Given the description of an element on the screen output the (x, y) to click on. 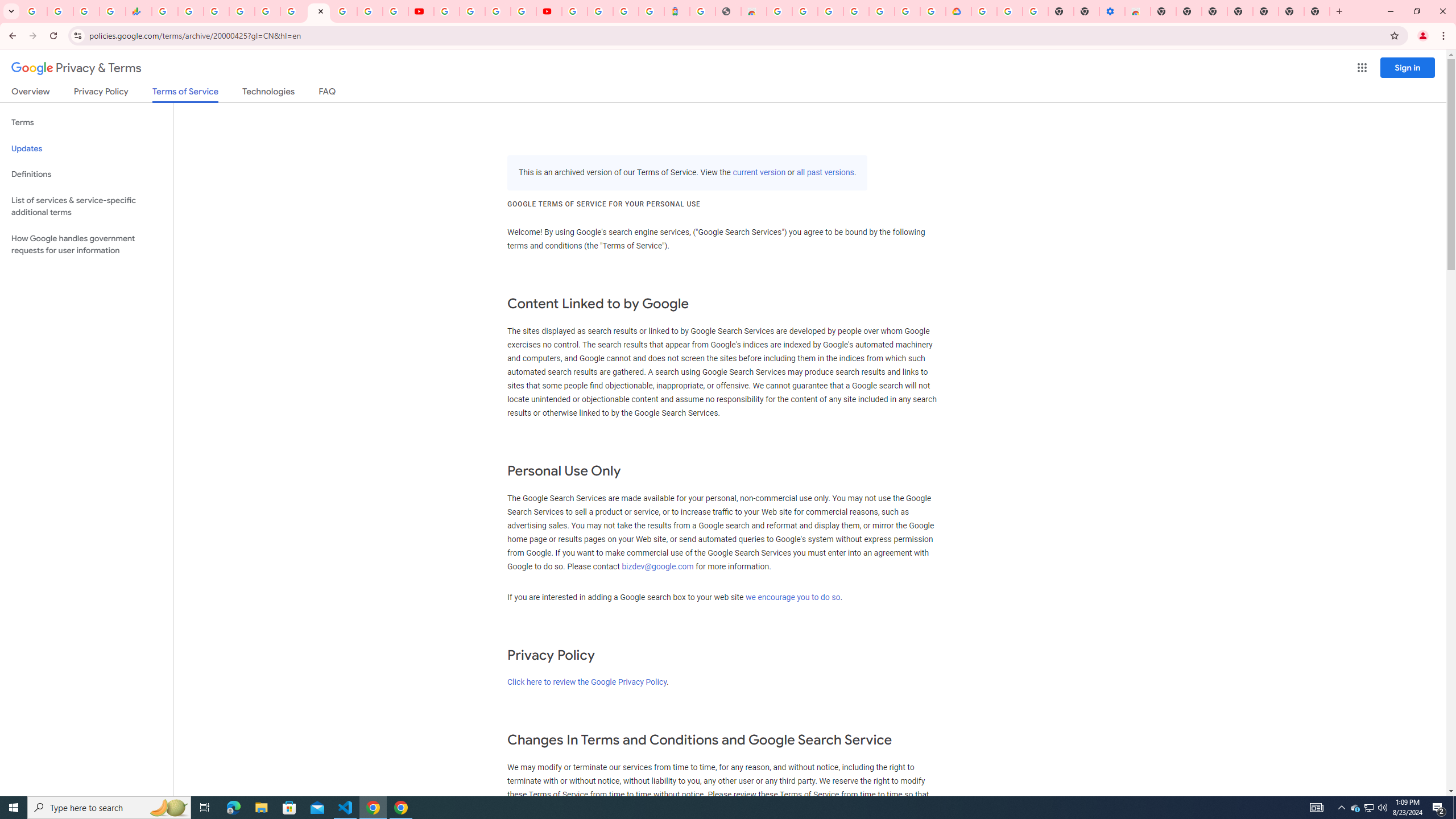
Sign in - Google Accounts (907, 11)
Google Account Help (472, 11)
Chrome Web Store - Household (753, 11)
New Tab (1162, 11)
